Given the description of an element on the screen output the (x, y) to click on. 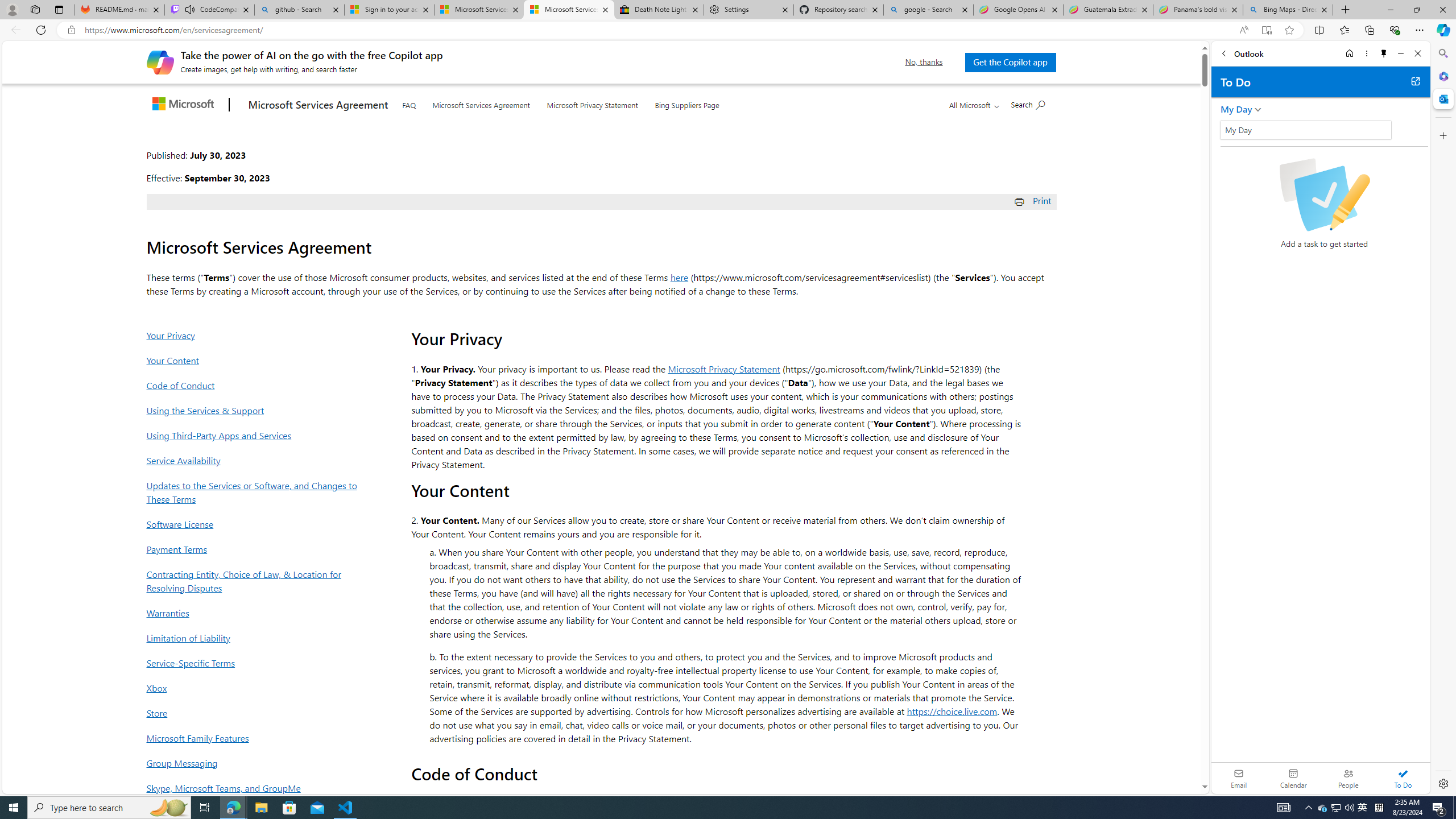
Calendar. Date today is 22 (1293, 777)
Mute tab (189, 8)
FAQ (408, 103)
Skype, Microsoft Teams, and GroupMe (254, 787)
Payment Terms (254, 549)
